Given the description of an element on the screen output the (x, y) to click on. 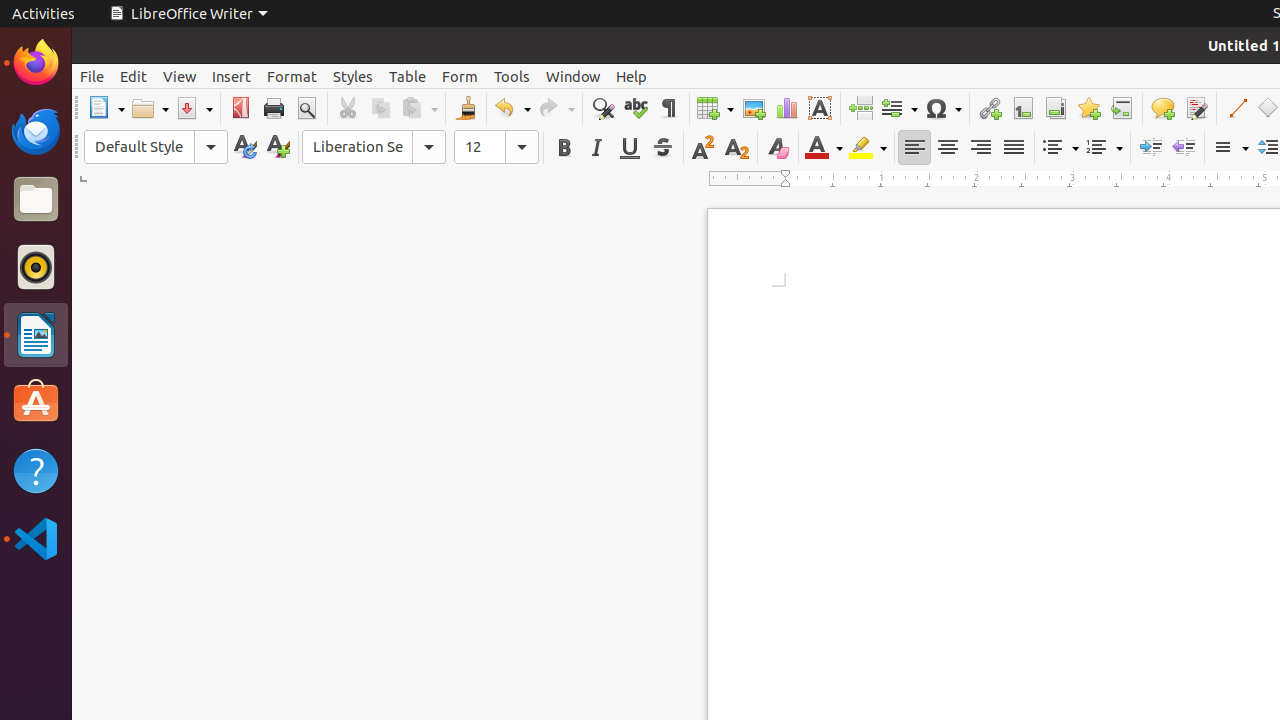
Tools Element type: menu (512, 76)
Font Size Element type: combo-box (496, 147)
Update Element type: push-button (244, 147)
Format Element type: menu (292, 76)
Styles Element type: menu (353, 76)
